Given the description of an element on the screen output the (x, y) to click on. 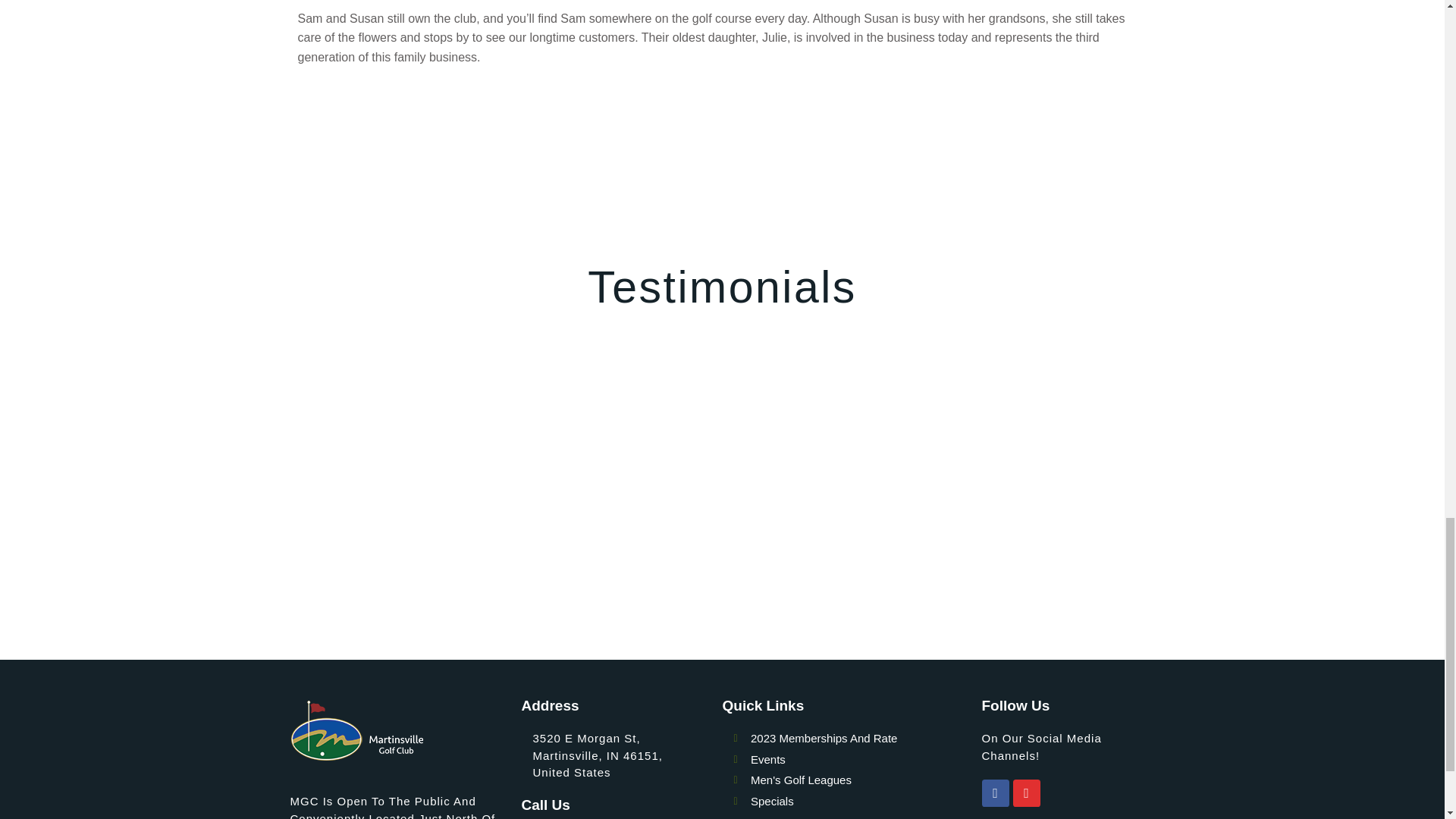
765-342-4336 (571, 754)
Facebook (995, 710)
Instagram (1027, 710)
2023 Memberships And Rate (857, 656)
Men's Golf Leagues (857, 698)
Specials (857, 719)
Events (857, 678)
